Given the description of an element on the screen output the (x, y) to click on. 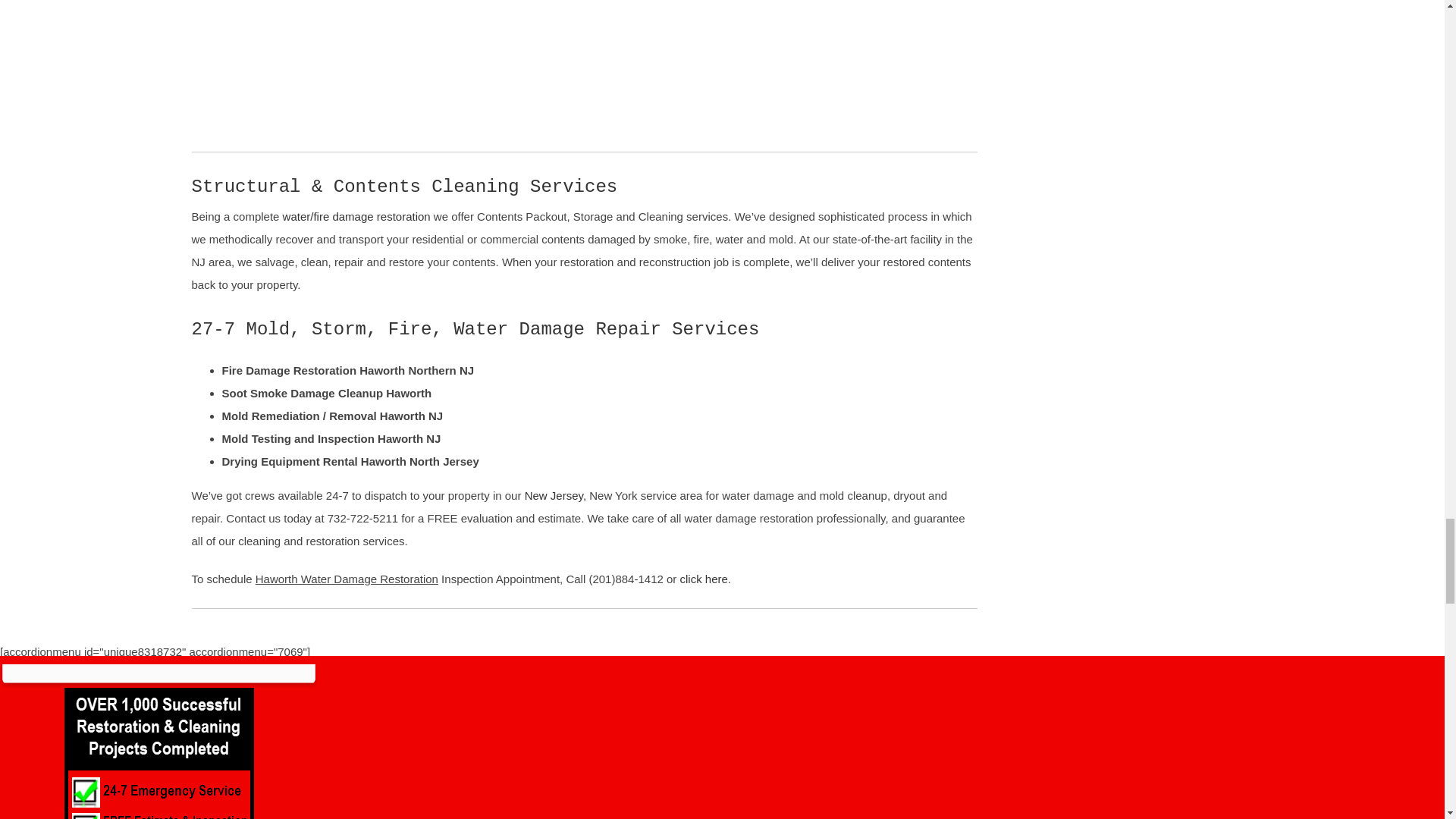
YouTube video player 1 (418, 67)
why-choose-us (158, 753)
schedule-bottom-box (158, 675)
